Given the description of an element on the screen output the (x, y) to click on. 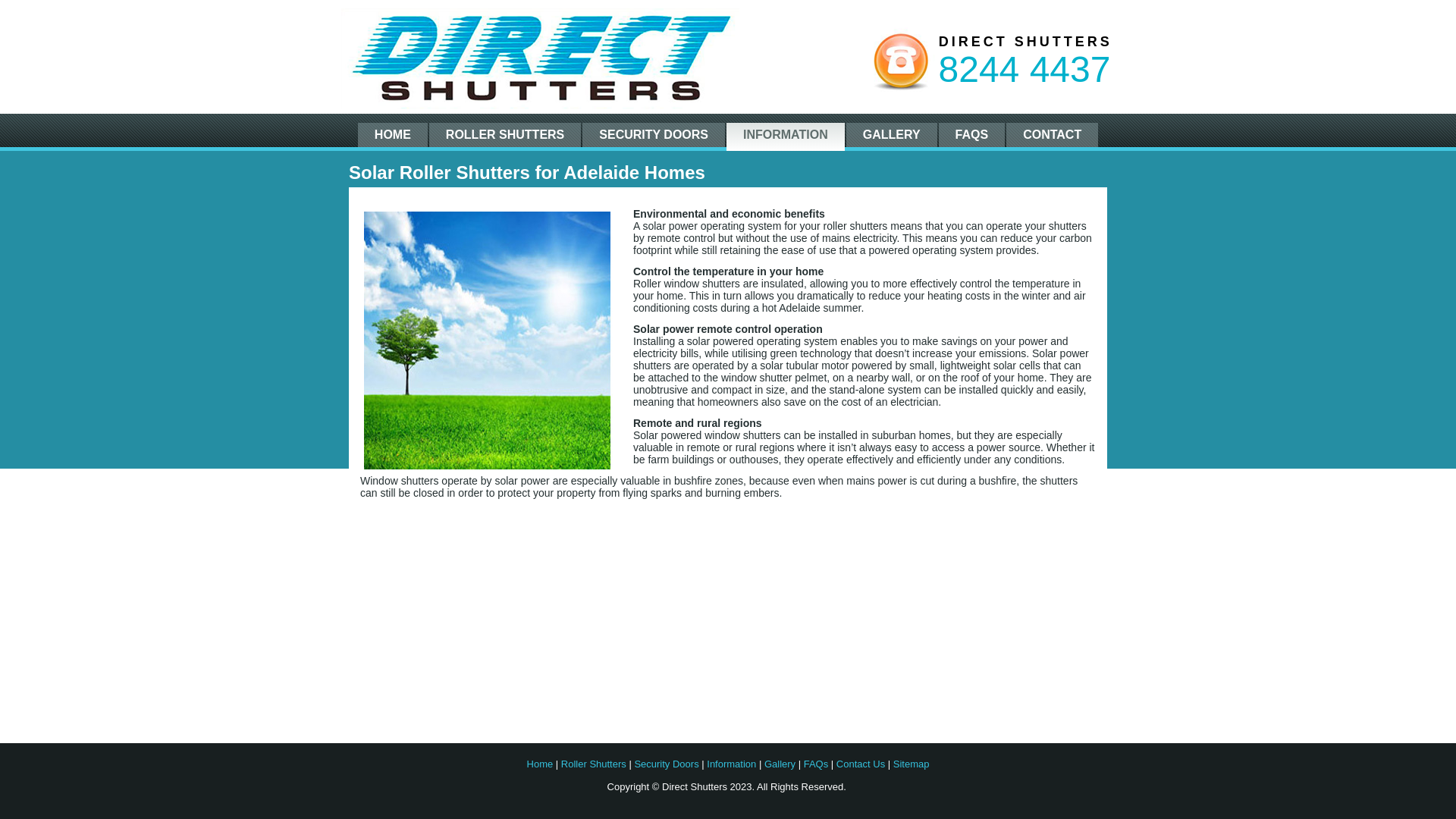
INFORMATION Element type: text (785, 136)
Home Element type: text (540, 763)
ROLLER SHUTTERS Element type: text (504, 134)
Contact Us Element type: text (860, 763)
Security Doors Element type: text (665, 763)
SECURITY DOORS Element type: text (653, 134)
FAQS Element type: text (971, 134)
Roller Shutters Element type: text (593, 763)
FAQs Element type: text (815, 763)
Sitemap Element type: text (911, 763)
8244 4437 Element type: text (1024, 69)
Information Element type: text (731, 763)
HOME Element type: text (392, 134)
CONTACT Element type: text (1052, 134)
Gallery Element type: text (779, 763)
GALLERY Element type: text (891, 134)
